Given the description of an element on the screen output the (x, y) to click on. 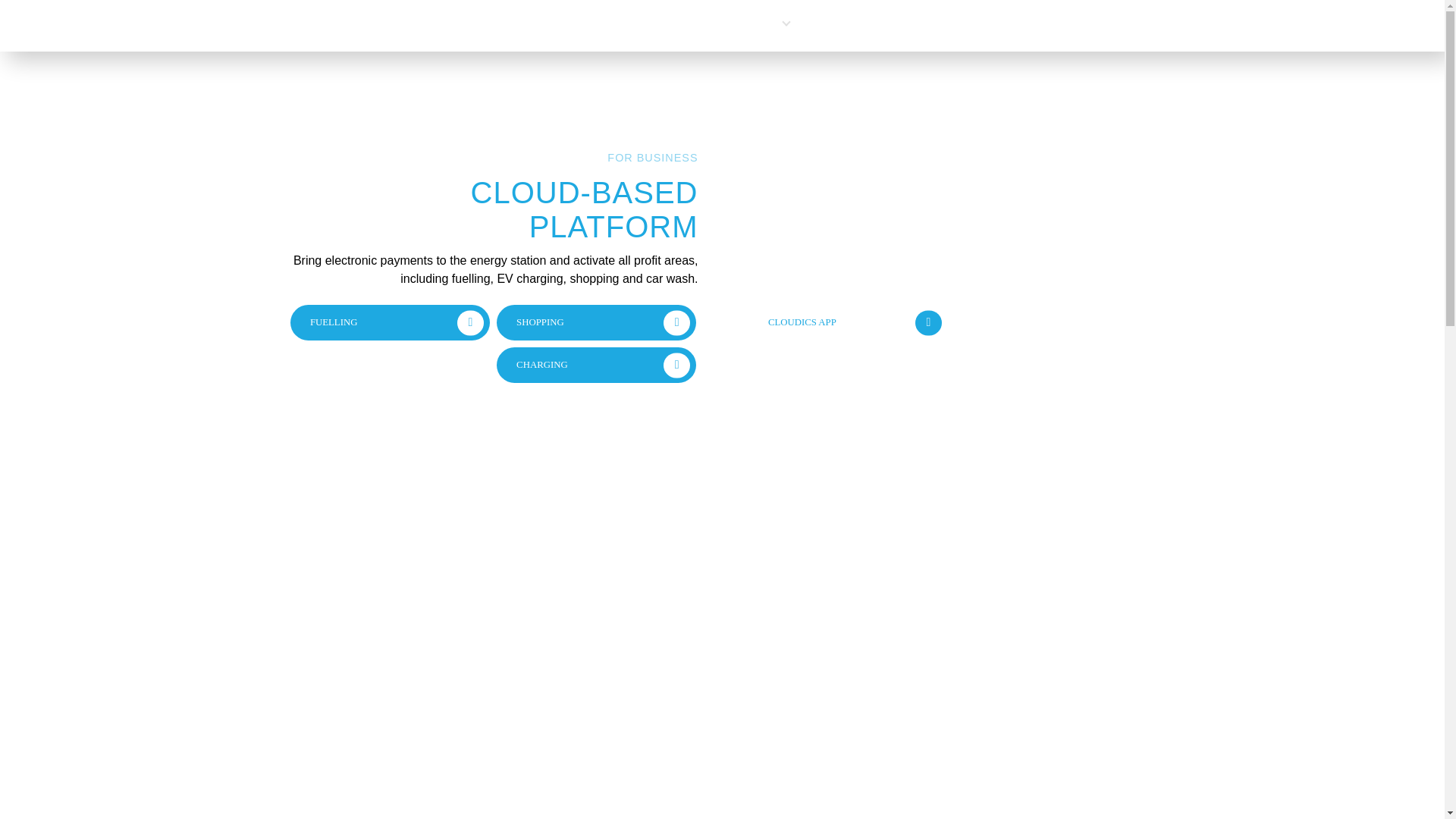
CLOUDICS APP (847, 322)
ENG (742, 23)
SHOPPING (595, 322)
FUELLING (389, 322)
CHARGING (595, 365)
